Given the description of an element on the screen output the (x, y) to click on. 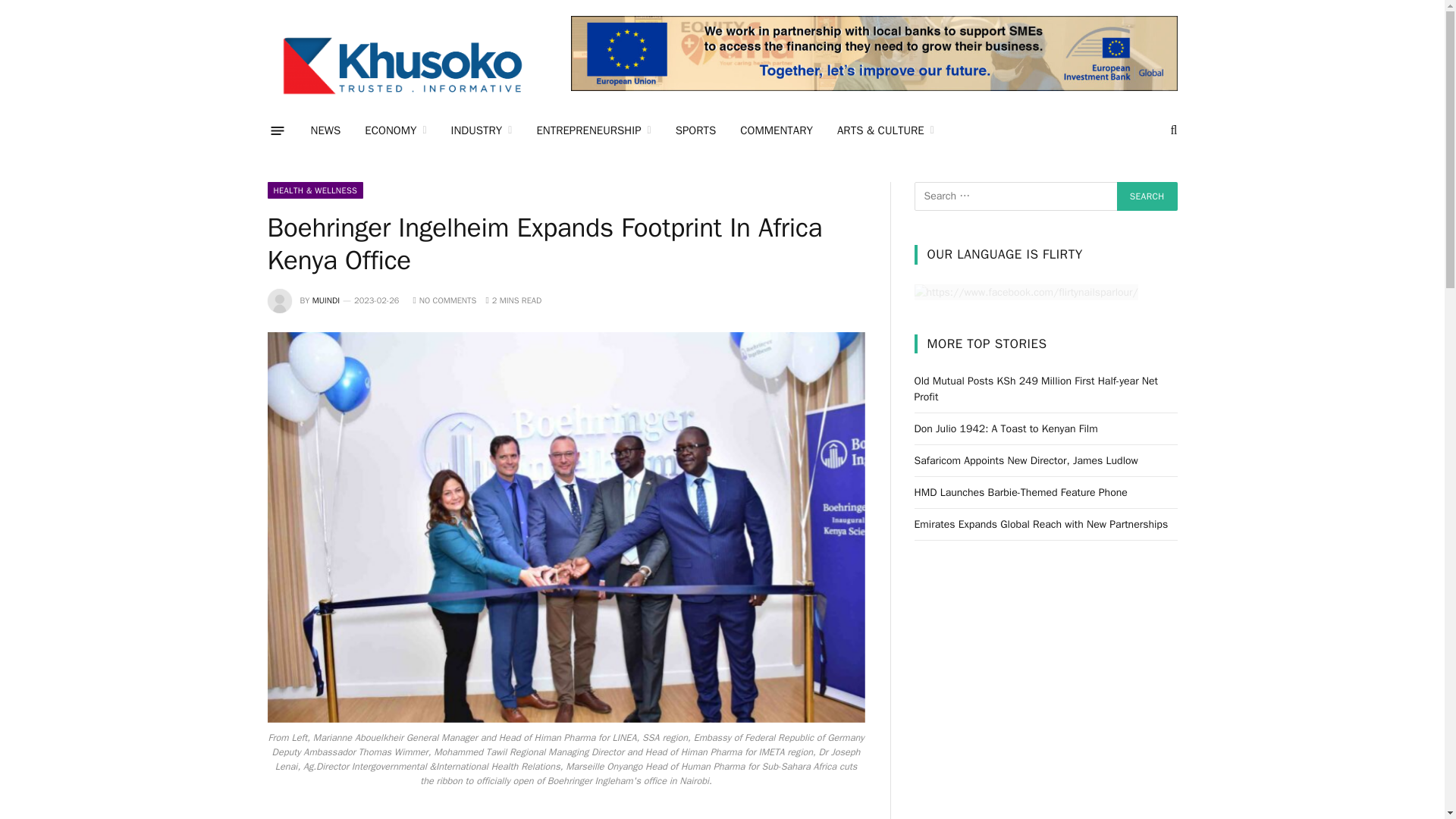
Search (1146, 195)
NO COMMENTS (444, 299)
MUINDI (326, 299)
SPORTS (696, 129)
NEWS (325, 129)
COMMENTARY (776, 129)
Posts by Muindi (326, 299)
ENTREPRENEURSHIP (593, 129)
Our Language is Flirty (1026, 291)
